Given the description of an element on the screen output the (x, y) to click on. 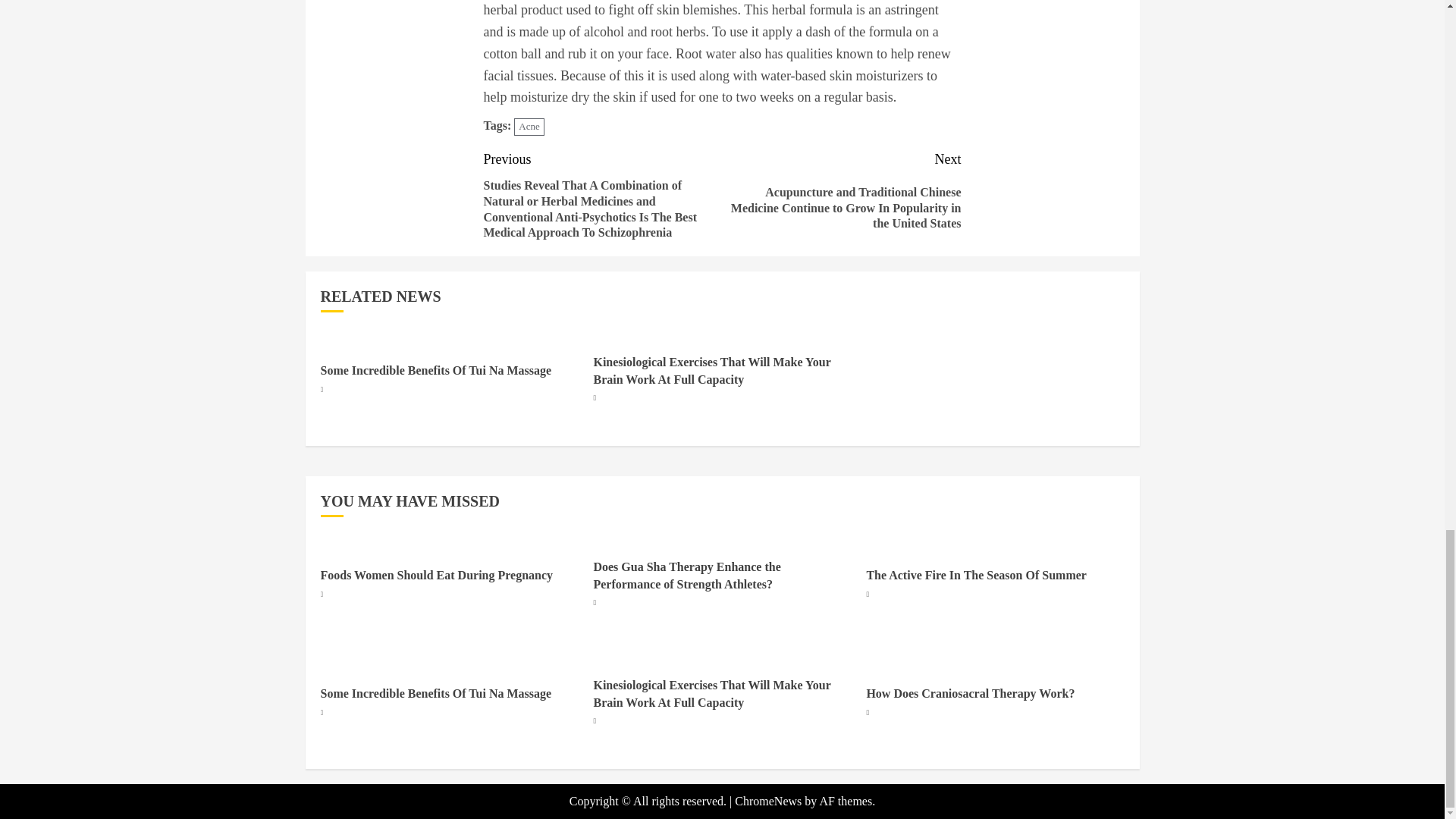
Acne (528, 126)
The Active Fire In The Season Of Summer (976, 575)
Some Incredible Benefits Of Tui Na Massage (435, 370)
Foods Women Should Eat During Pregnancy (436, 575)
Some Incredible Benefits Of Tui Na Massage (435, 694)
